Given the description of an element on the screen output the (x, y) to click on. 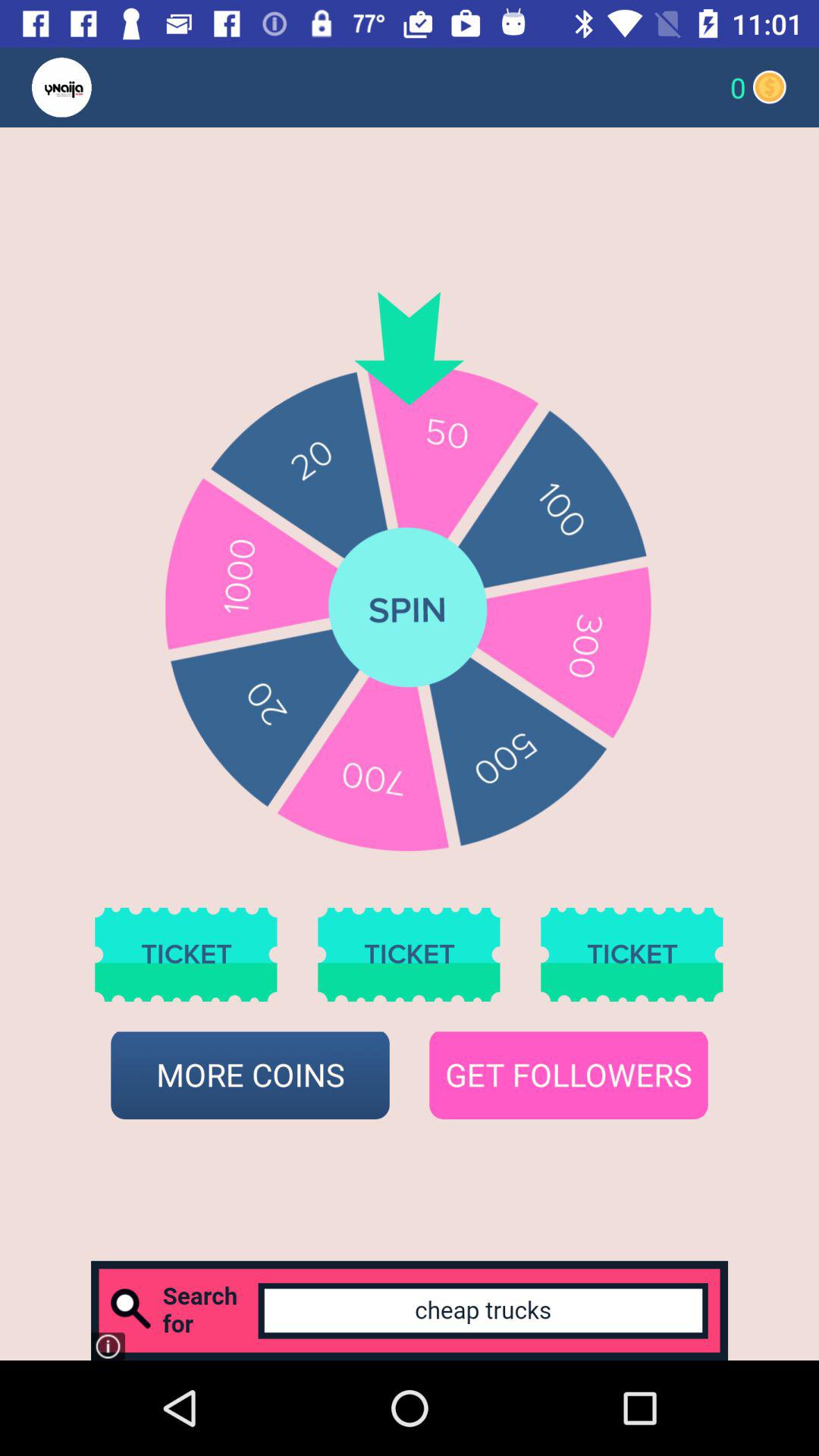
click the item to the left of the 20 (91, 87)
